Given the description of an element on the screen output the (x, y) to click on. 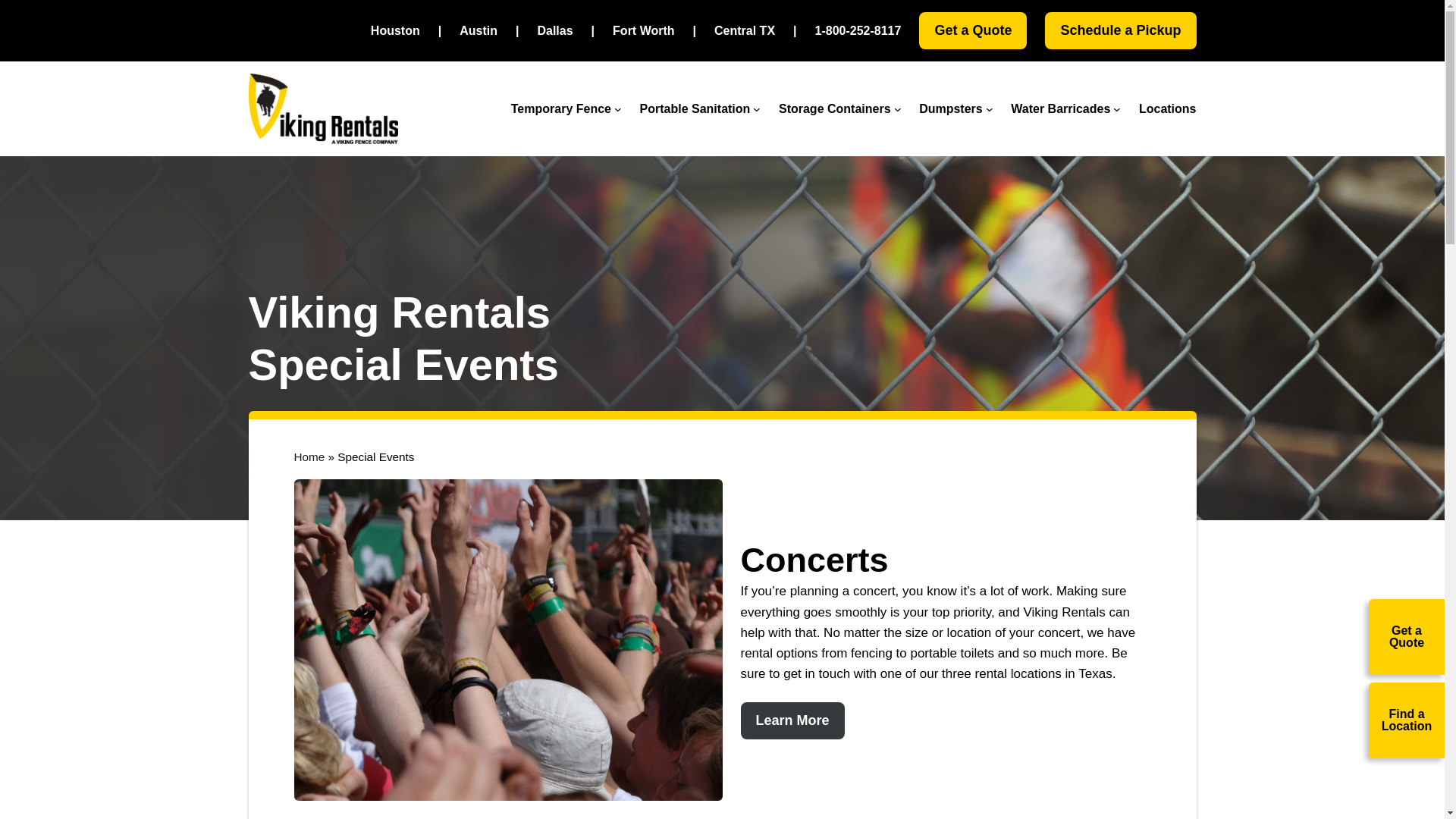
1-800-252-8117 (858, 30)
Austin (478, 30)
Dumpsters (950, 108)
Temporary Fence (561, 108)
Portable Sanitation (695, 108)
Get a Quote (972, 30)
Houston (395, 30)
Storage Containers (834, 108)
Central TX (744, 30)
Schedule a Pickup (1120, 30)
Fort Worth (643, 30)
Dallas (554, 30)
